Given the description of an element on the screen output the (x, y) to click on. 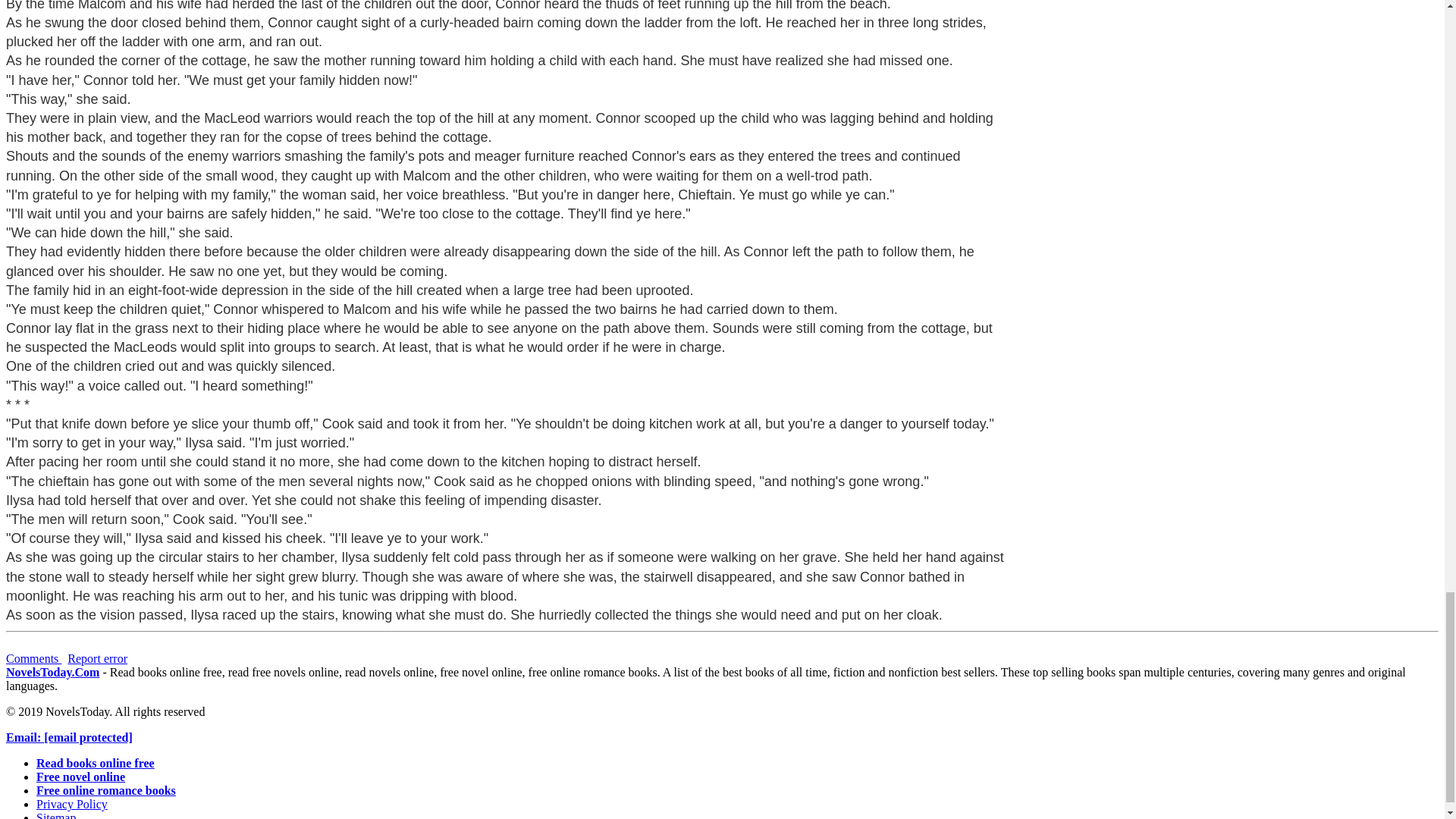
Report error (97, 658)
NovelsToday.Com (52, 671)
Comments (33, 658)
